Given the description of an element on the screen output the (x, y) to click on. 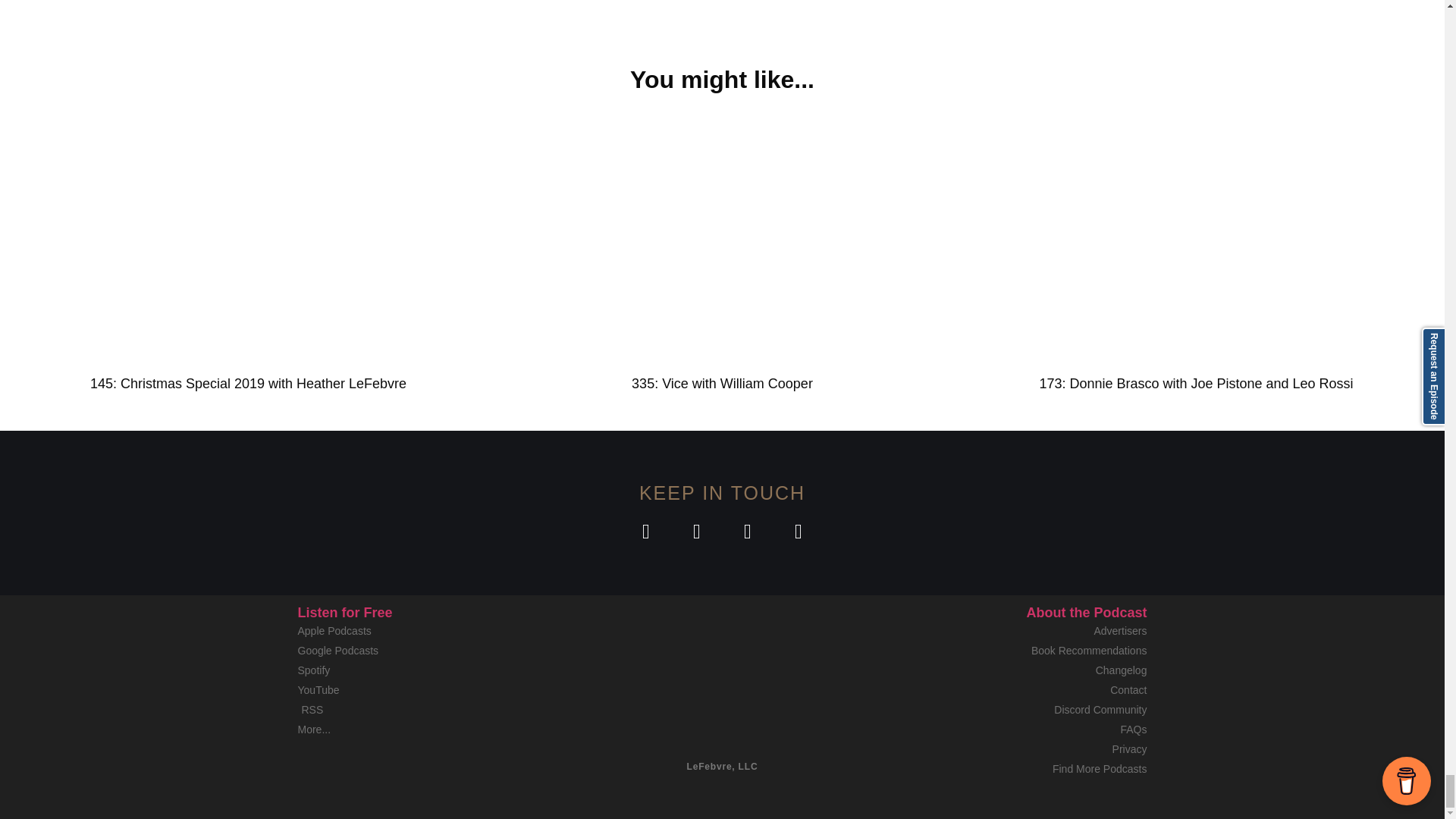
Advertisers (1010, 631)
173: Donnie Brasco with Joe Pistone and Leo Rossi (1195, 383)
Book Recommendations (1010, 650)
YouTube (433, 690)
145: Christmas Special 2019 with Heather LeFebvre (248, 383)
Google Podcasts (433, 650)
More... (433, 729)
RSS (433, 709)
Spotify (433, 670)
Listen for Free (344, 612)
About the Podcast (1086, 612)
Apple Podcasts (433, 631)
Changelog (1010, 670)
335: Vice with William Cooper (721, 383)
